Given the description of an element on the screen output the (x, y) to click on. 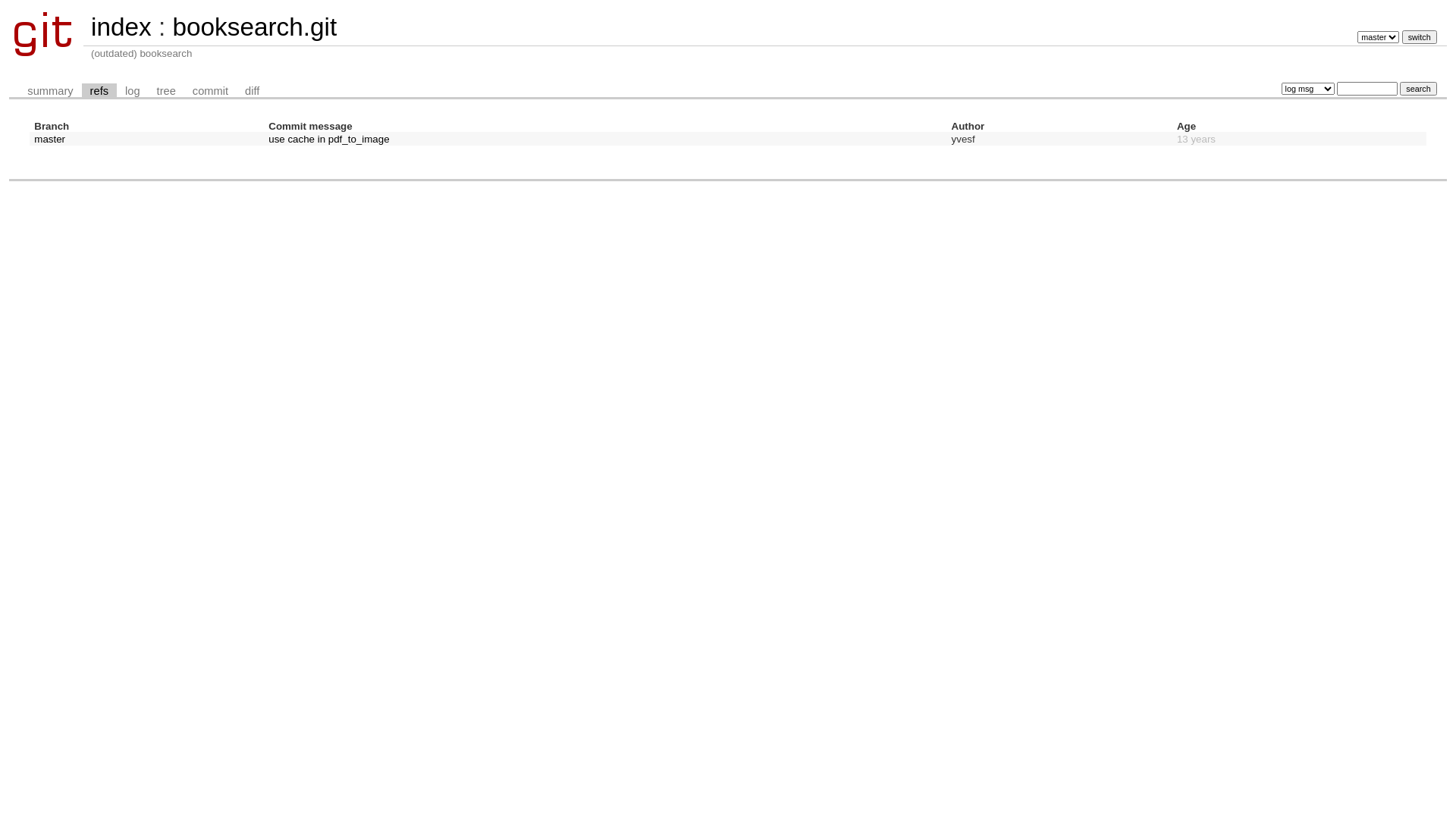
booksearch.git Element type: text (254, 26)
summary Element type: text (49, 90)
switch Element type: text (1419, 36)
master Element type: text (49, 138)
index Element type: text (121, 26)
refs Element type: text (98, 90)
search Element type: text (1417, 88)
diff Element type: text (251, 90)
log Element type: text (132, 90)
use cache in pdf_to_image Element type: text (328, 138)
tree Element type: text (166, 90)
commit Element type: text (210, 90)
